Given the description of an element on the screen output the (x, y) to click on. 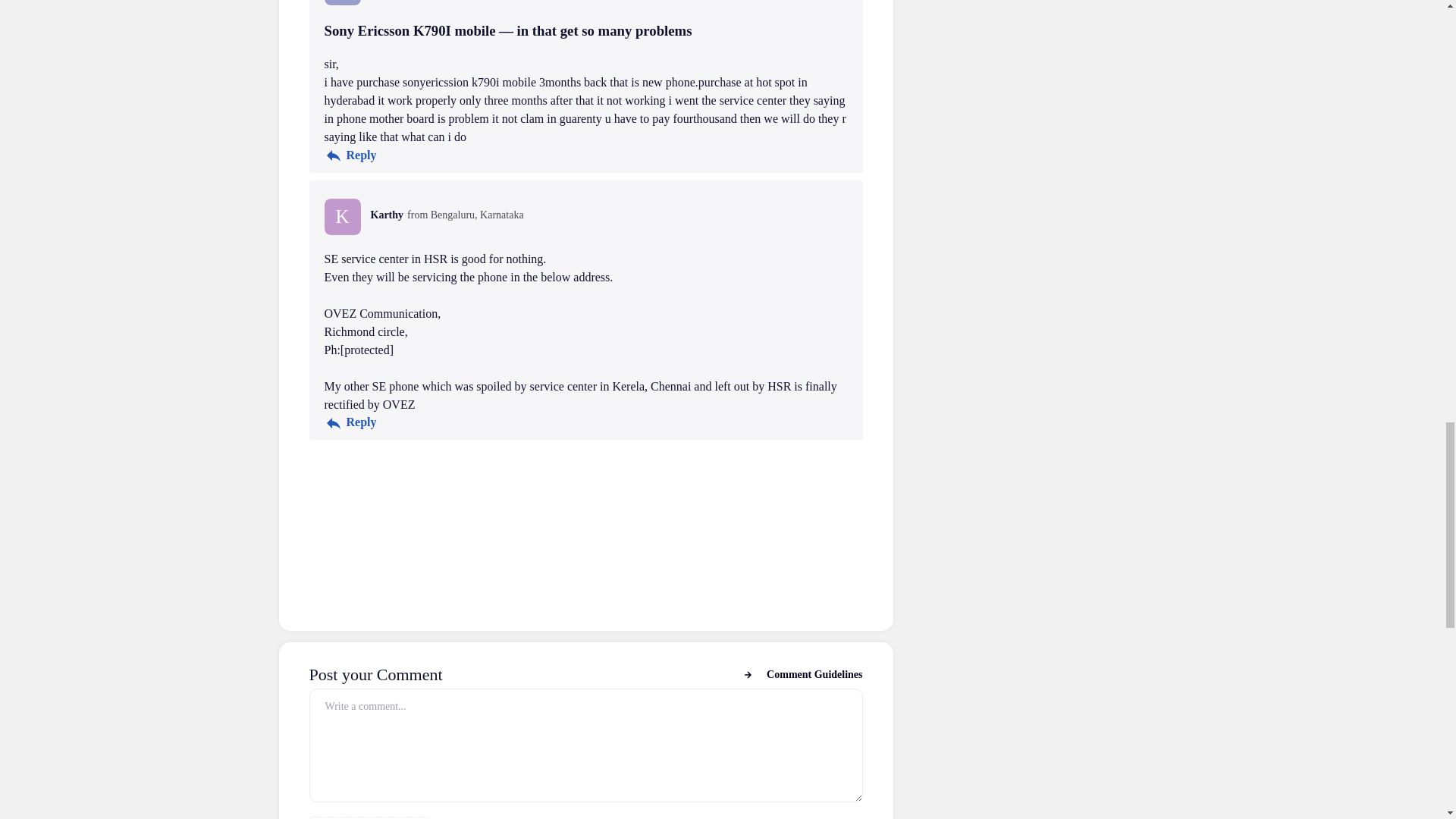
Comment Guidelines (802, 674)
Reply (350, 155)
Reply (350, 423)
